Given the description of an element on the screen output the (x, y) to click on. 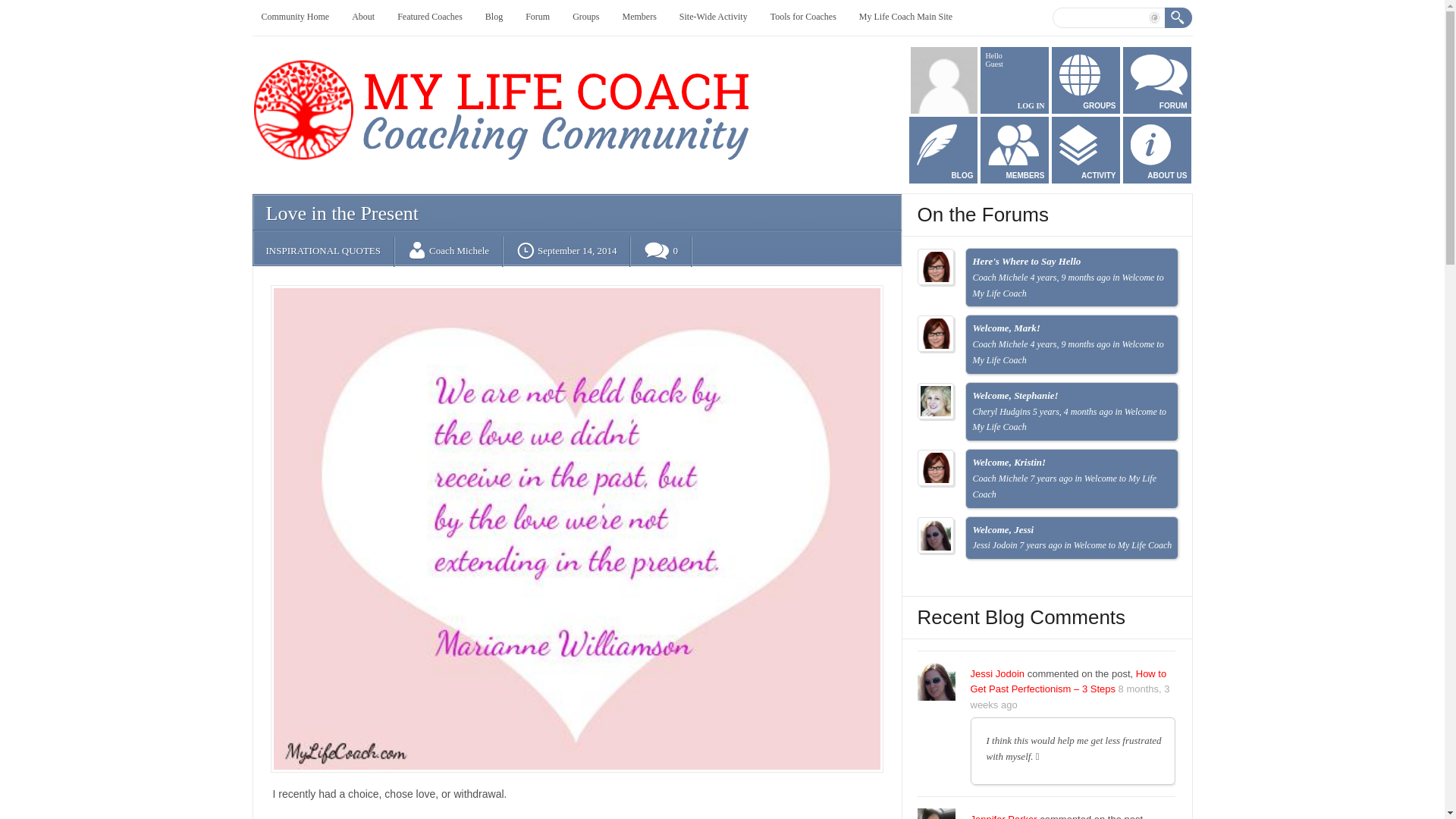
Love in the Present (340, 213)
My Life Coach Main Site (905, 16)
Community Home (294, 16)
Members (639, 16)
Tools for Coaches (802, 16)
ABOUT US (1156, 150)
ACTIVITY (1085, 150)
Groups (585, 16)
MEMBERS (1013, 150)
LOG IN (1031, 105)
Home (504, 163)
Coach Michele (459, 250)
FORUM (1156, 79)
GROUPS (1085, 79)
Blog (493, 16)
